Given the description of an element on the screen output the (x, y) to click on. 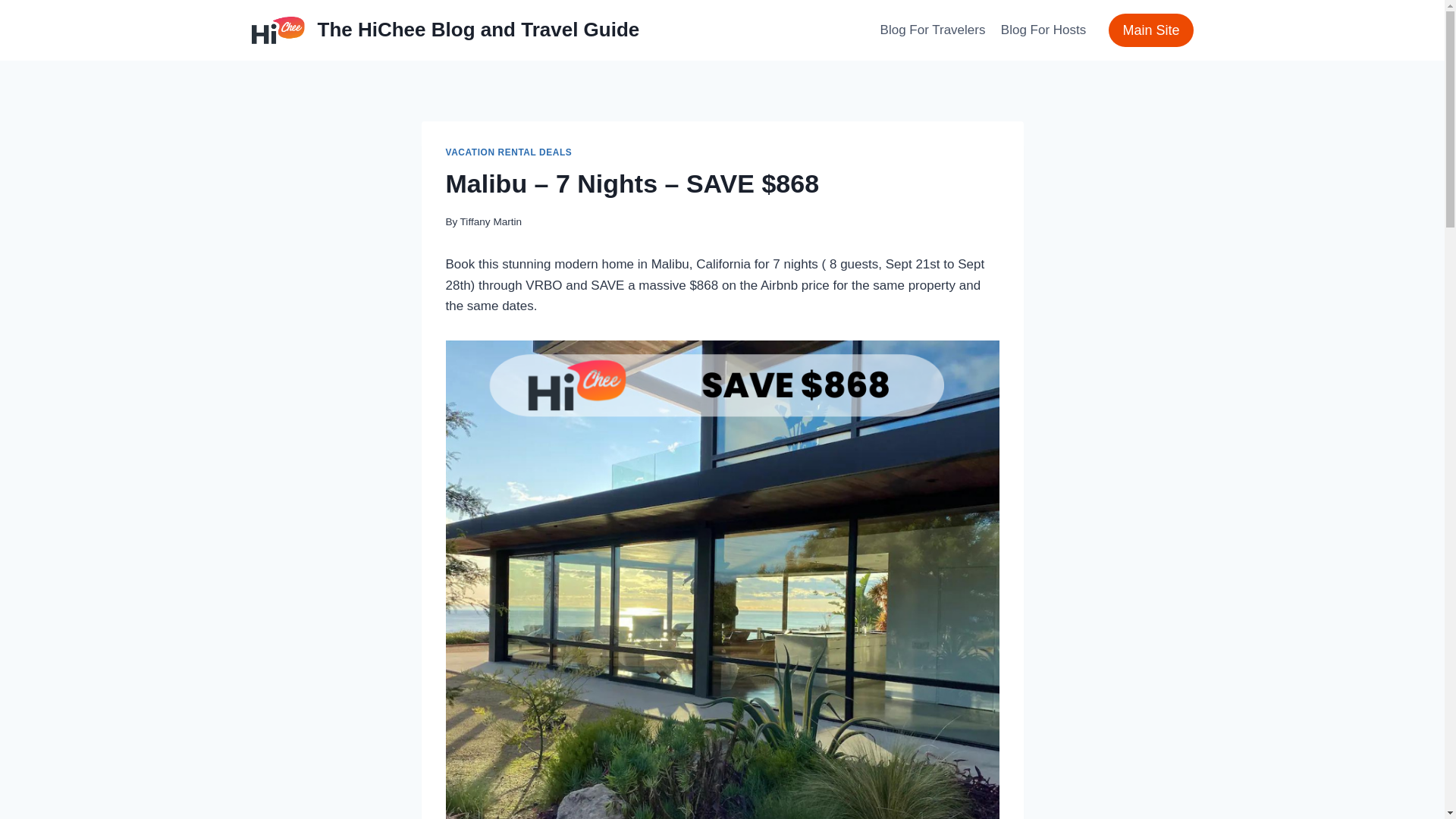
Tiffany Martin (491, 221)
Blog For Hosts (1043, 30)
The HiChee Blog and Travel Guide (445, 30)
Main Site (1150, 29)
VACATION RENTAL DEALS (508, 152)
Blog For Travelers (932, 30)
